Given the description of an element on the screen output the (x, y) to click on. 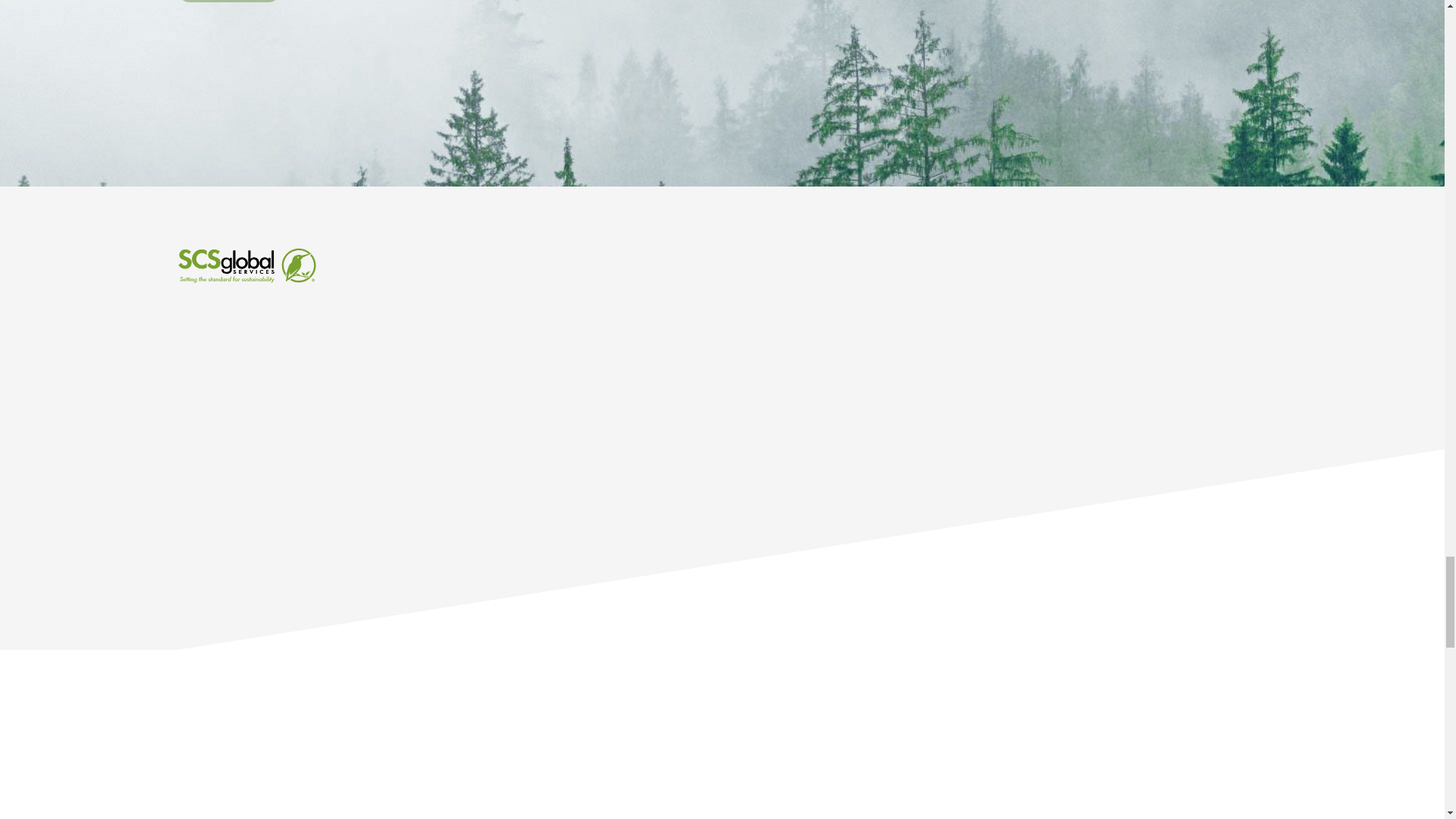
SCS Global Services on LinkedIn (1140, 345)
SCS Global Services' YouTube Account (1184, 345)
Submit (228, 1)
SCS Global Services on Facebook (1096, 345)
SCS Global Services on Twitter (1053, 345)
SCS Global Services' Instagram Account (1008, 345)
